Given the description of an element on the screen output the (x, y) to click on. 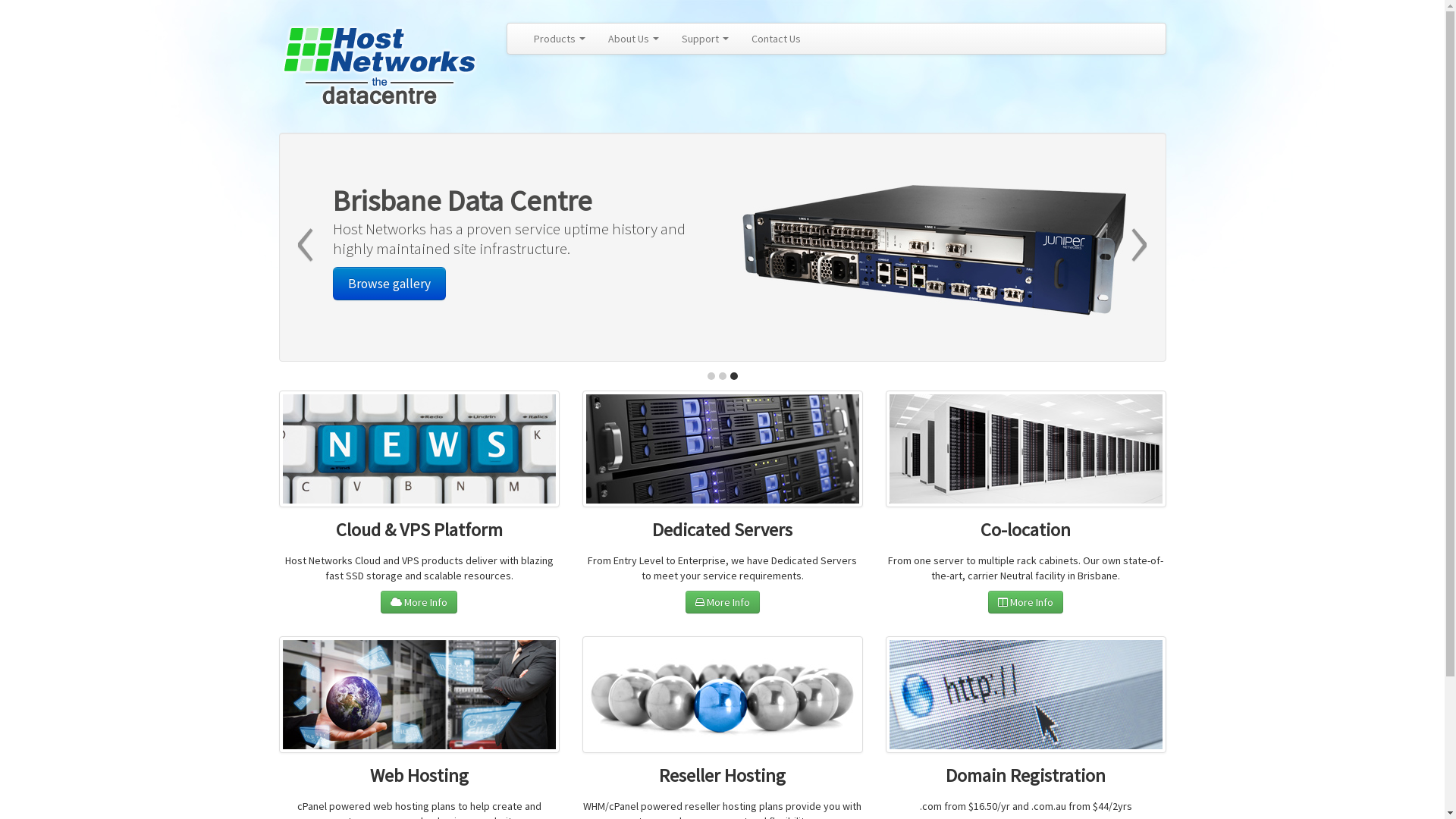
Support Element type: text (705, 38)
Contact Us Element type: text (776, 38)
More Info Element type: text (722, 601)
More Info Element type: text (418, 601)
View plans Element type: text (384, 283)
About Us Element type: text (632, 38)
Products Element type: text (558, 38)
More Info Element type: text (1025, 601)
